Given the description of an element on the screen output the (x, y) to click on. 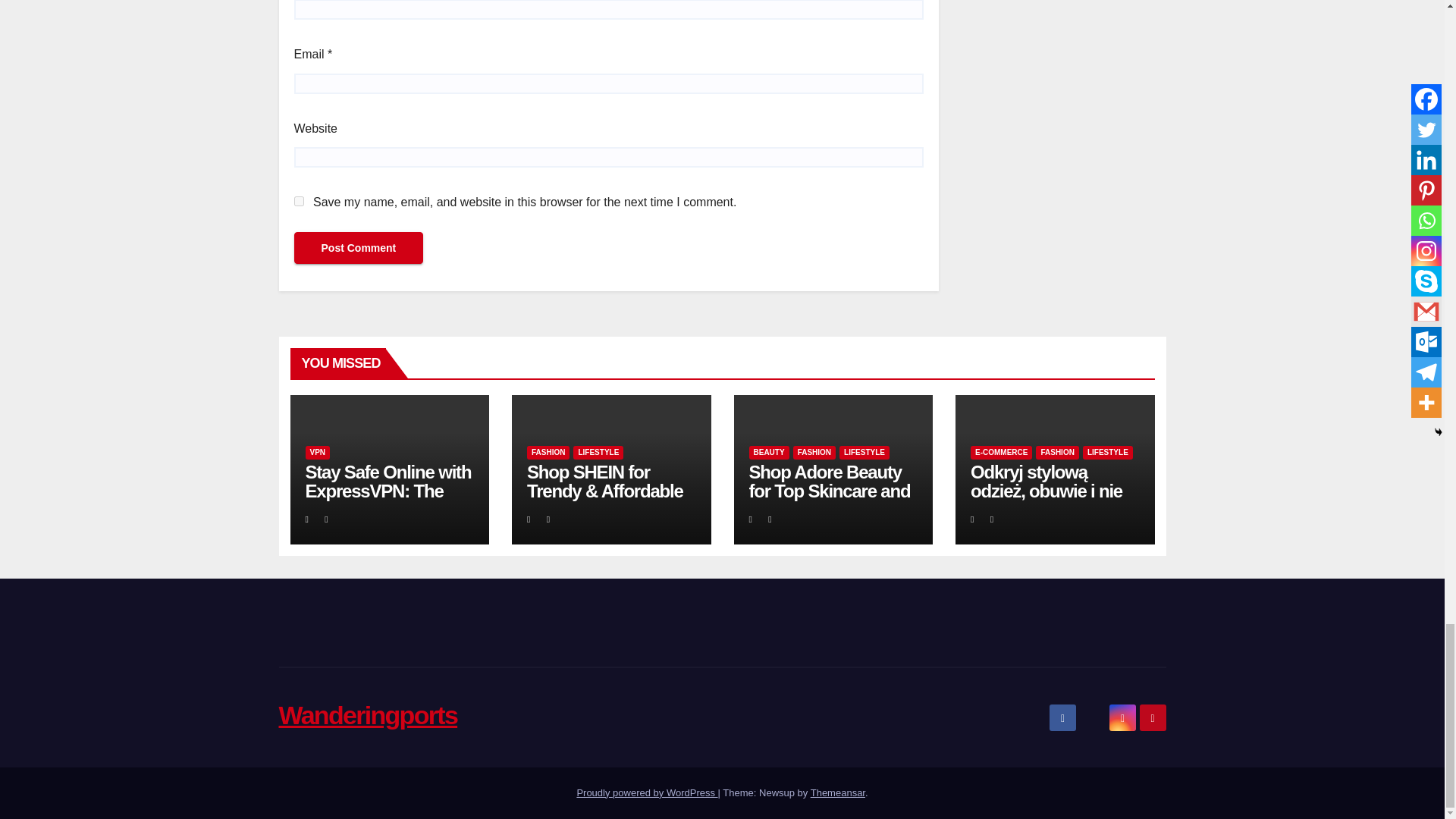
Post Comment (358, 247)
yes (299, 201)
